Given the description of an element on the screen output the (x, y) to click on. 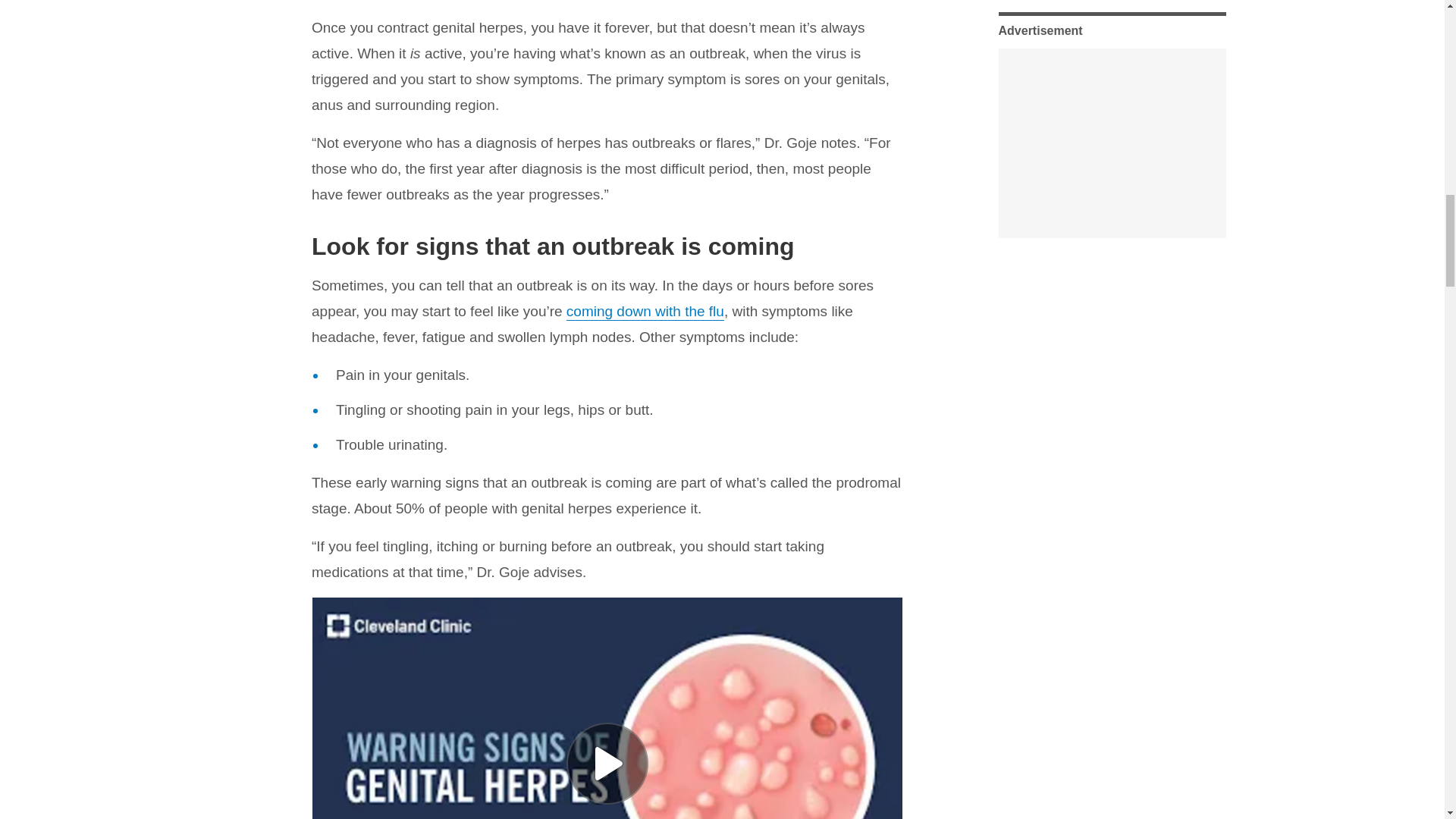
coming down with the flu (644, 311)
